Given the description of an element on the screen output the (x, y) to click on. 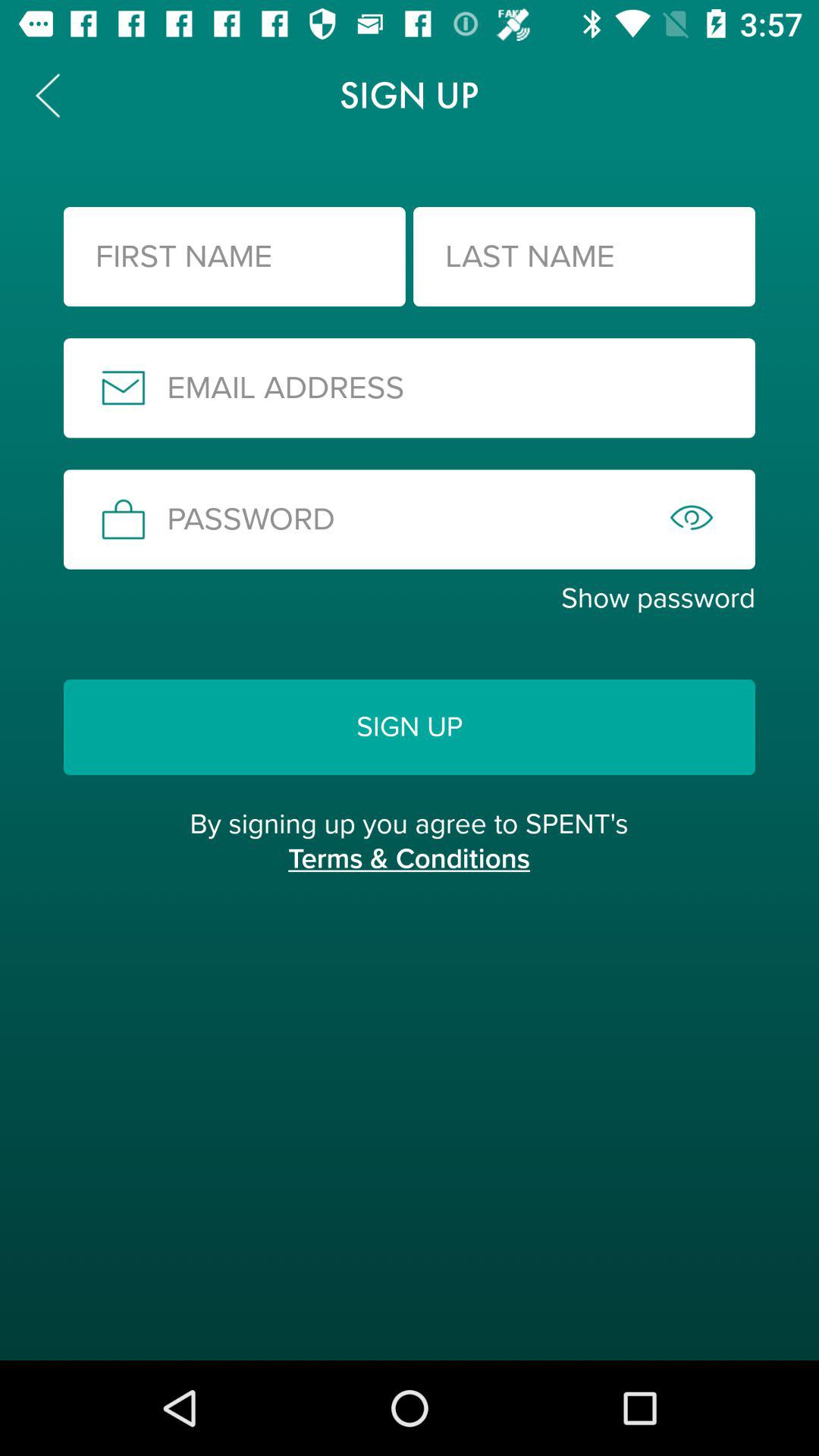
email address (409, 387)
